Given the description of an element on the screen output the (x, y) to click on. 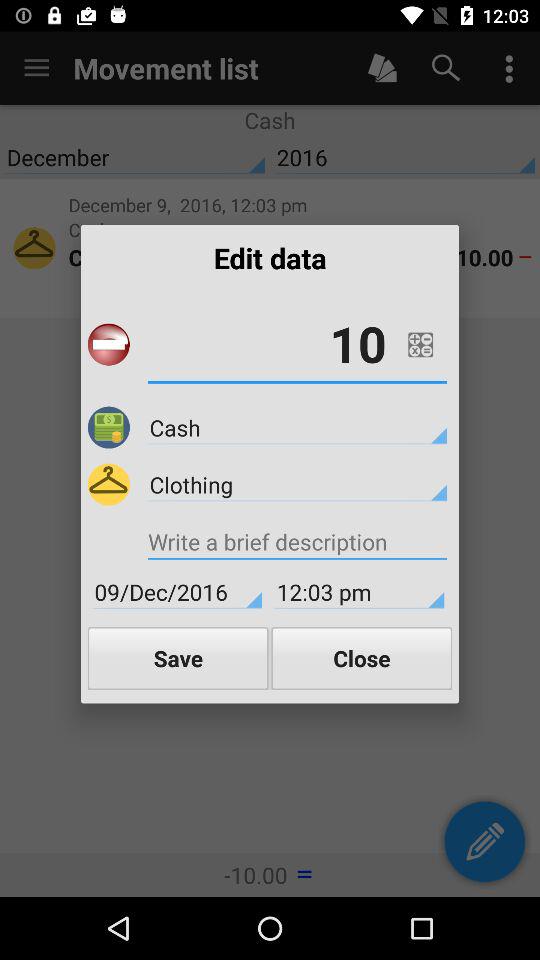
jump to clothing item (297, 484)
